Given the description of an element on the screen output the (x, y) to click on. 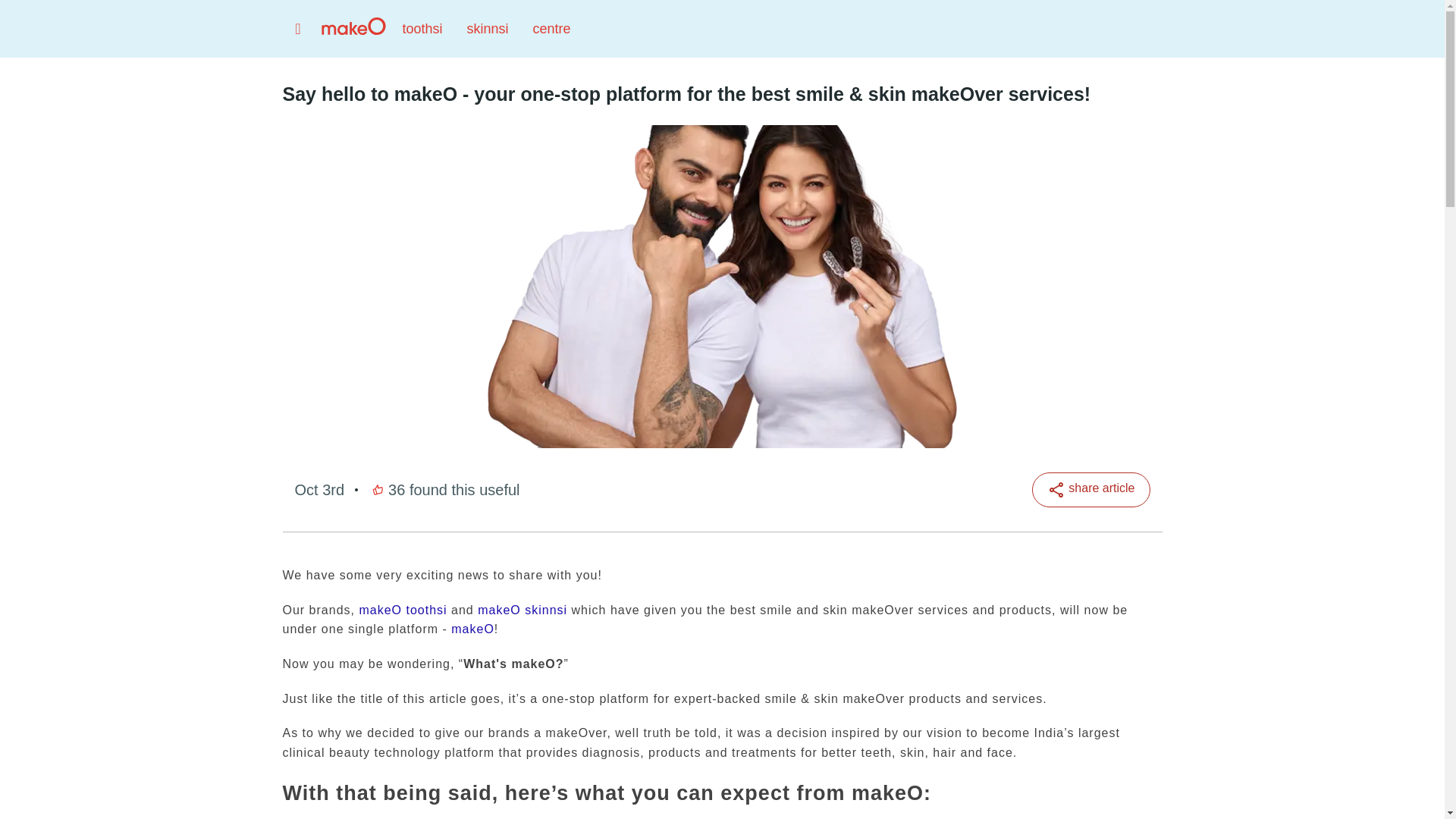
makeO toothsi (402, 609)
makeO (473, 628)
makeO skinnsi (522, 609)
